Given the description of an element on the screen output the (x, y) to click on. 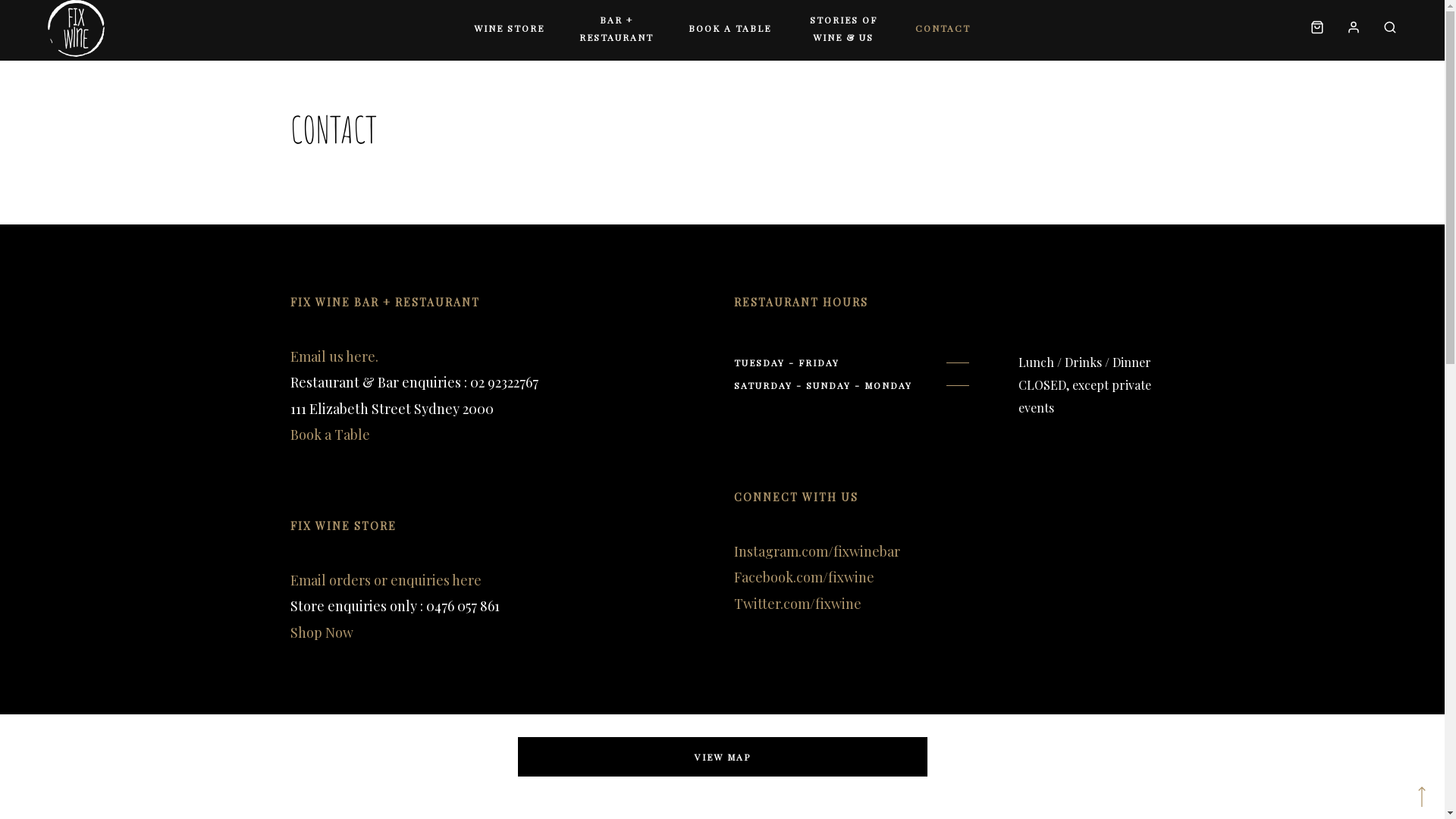
VIEW MAP Element type: text (721, 756)
WINE STORE Element type: text (508, 28)
STORIES OF WINE & US Element type: text (842, 28)
View your shopping cart Element type: hover (1317, 28)
Email us here. Element type: text (333, 356)
BAR + RESTAURANT Element type: text (616, 28)
Fix Wine Element type: hover (75, 28)
Shop Now Element type: text (320, 632)
Search products Element type: hover (1383, 28)
Instagram.com/fixwinebar Element type: text (817, 551)
Book a Table Element type: text (329, 434)
Twitter.com/fixwine Element type: text (797, 603)
Facebook.com/fixwine Element type: text (804, 576)
CONTACT Element type: text (942, 28)
Email orders or enquiries here Element type: text (384, 580)
BOOK A TABLE Element type: text (729, 28)
